Given the description of an element on the screen output the (x, y) to click on. 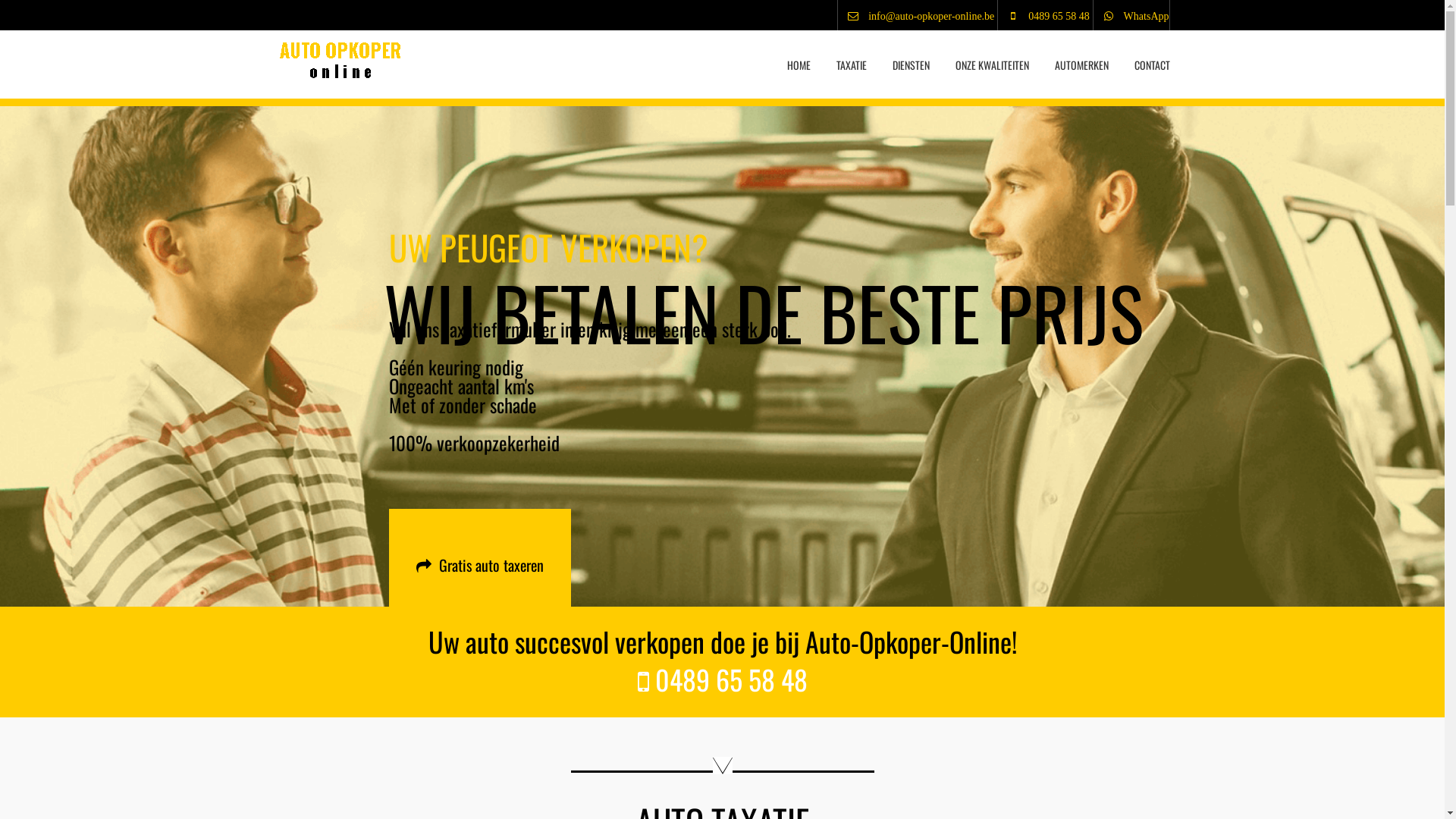
info@auto-opkoper-online.be Element type: text (915, 15)
0489 65 58 48 Element type: text (1043, 15)
HOME Element type: text (798, 57)
0489 65 58 48 Element type: text (721, 678)
AUTOMERKEN Element type: text (1081, 57)
TAXATIE Element type: text (851, 57)
WhatsApp Element type: text (1131, 15)
CONTACT Element type: text (1145, 57)
ONZE KWALITEITEN Element type: text (992, 57)
DIENSTEN Element type: text (911, 57)
Gratis auto taxeren Element type: text (479, 564)
